Given the description of an element on the screen output the (x, y) to click on. 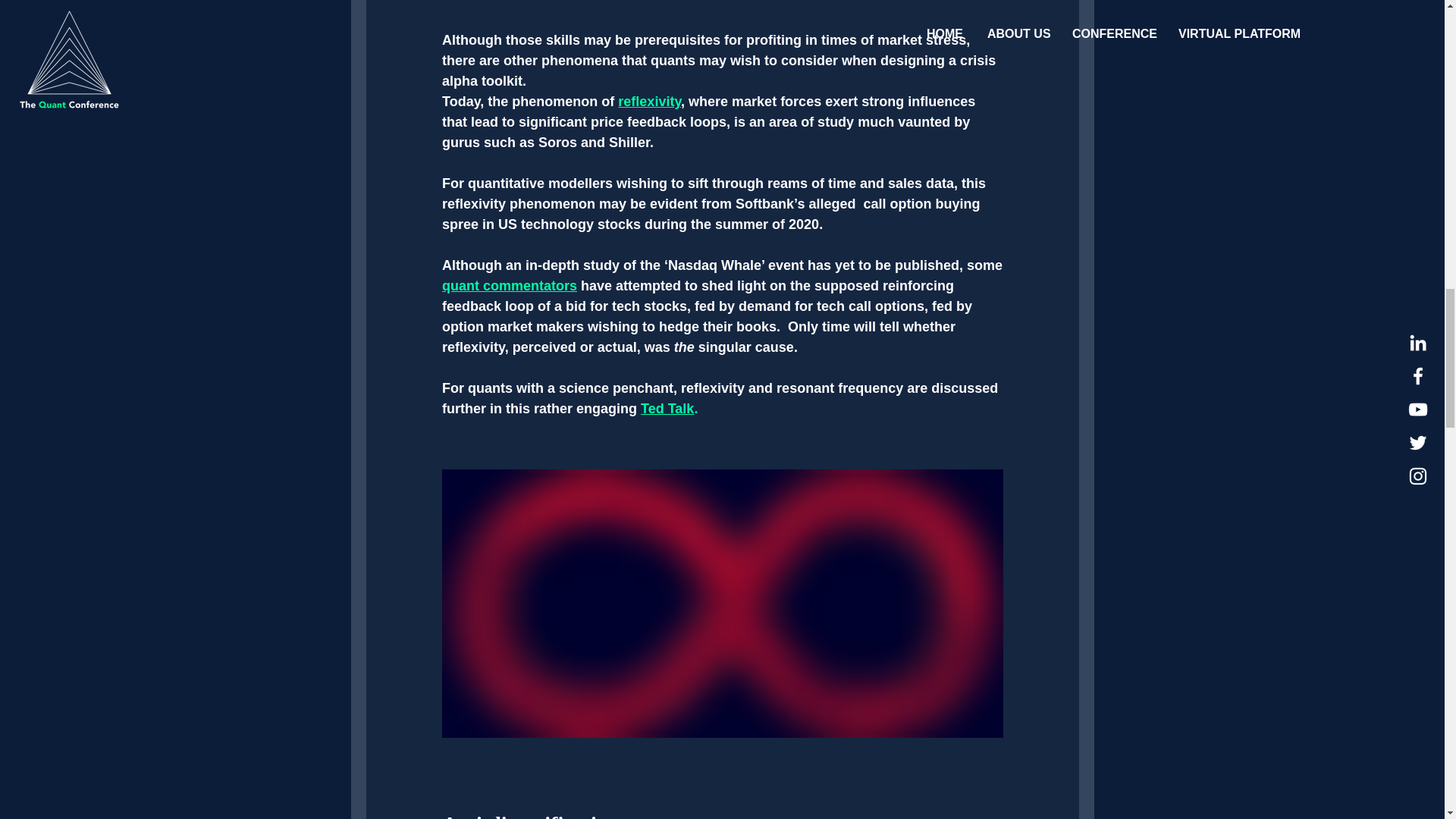
Ted Talk (667, 408)
quant commentators (508, 285)
reflexivity (649, 101)
